Given the description of an element on the screen output the (x, y) to click on. 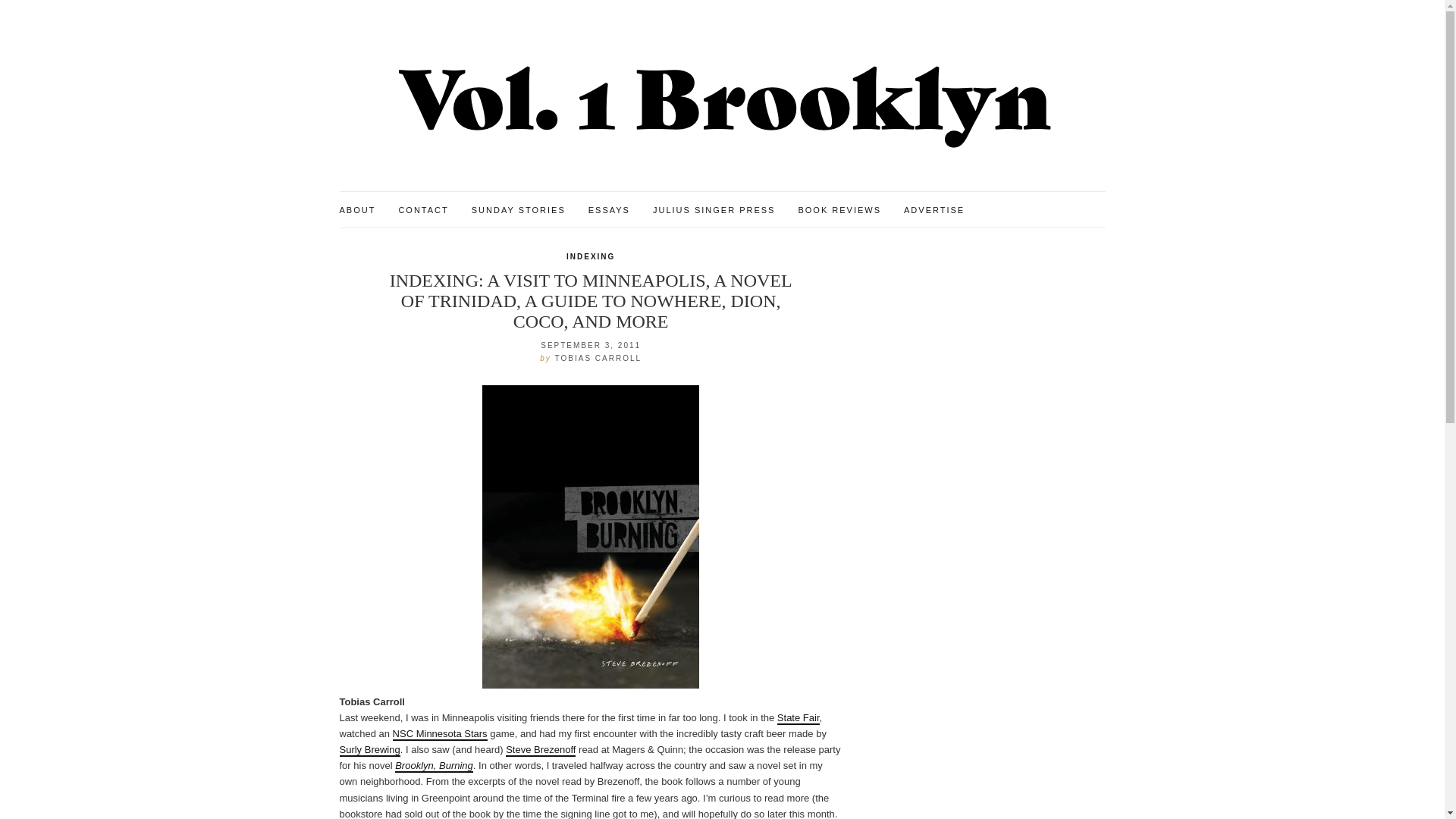
Brooklyn, Burning (433, 766)
CONTACT (422, 210)
Steve Brezenoff (540, 749)
INDEXING (590, 256)
State Fair (798, 717)
NSC Minnesota Stars (440, 734)
ADVERTISE (933, 210)
Surly Brewing (369, 749)
by (547, 356)
SUNDAY STORIES (518, 210)
